Given the description of an element on the screen output the (x, y) to click on. 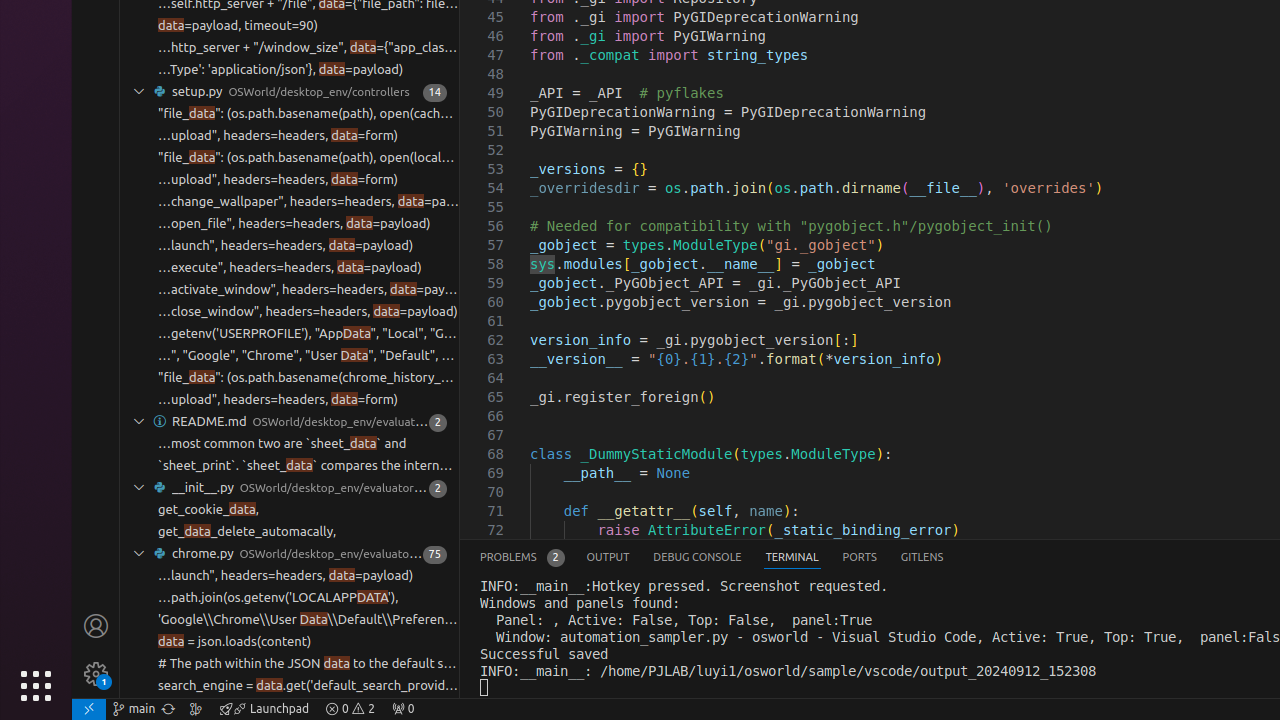
"file_data": (os.path.basename(path), open(local_path, "rb")) Element type: link (308, 157)
Show the GitLens Commit Graph Element type: push-button (196, 709)
…Type': 'application/json'}, data=payload) Element type: link (281, 69)
' response = requests.post(self.http_server + "/window_size", data={"app_class_name": app_class_name})' at column 77 found data Element type: tree-item (289, 47)
' response = requests.post(self.http_server + "/setup" + "/activate_window", headers=headers, data=payload)' at column 105 found data Element type: tree-item (289, 289)
